Given the description of an element on the screen output the (x, y) to click on. 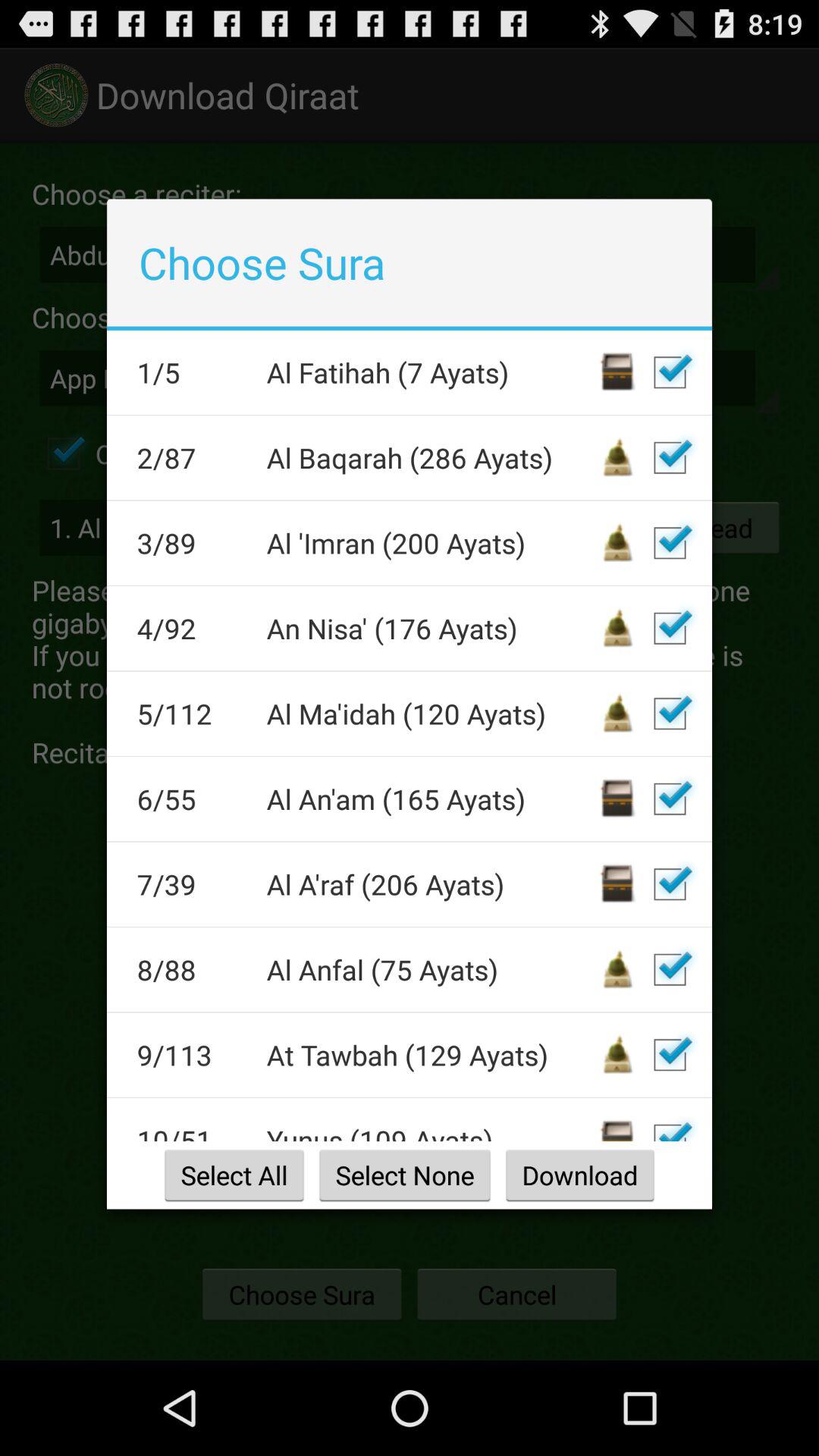
a checkbox (669, 457)
